Given the description of an element on the screen output the (x, y) to click on. 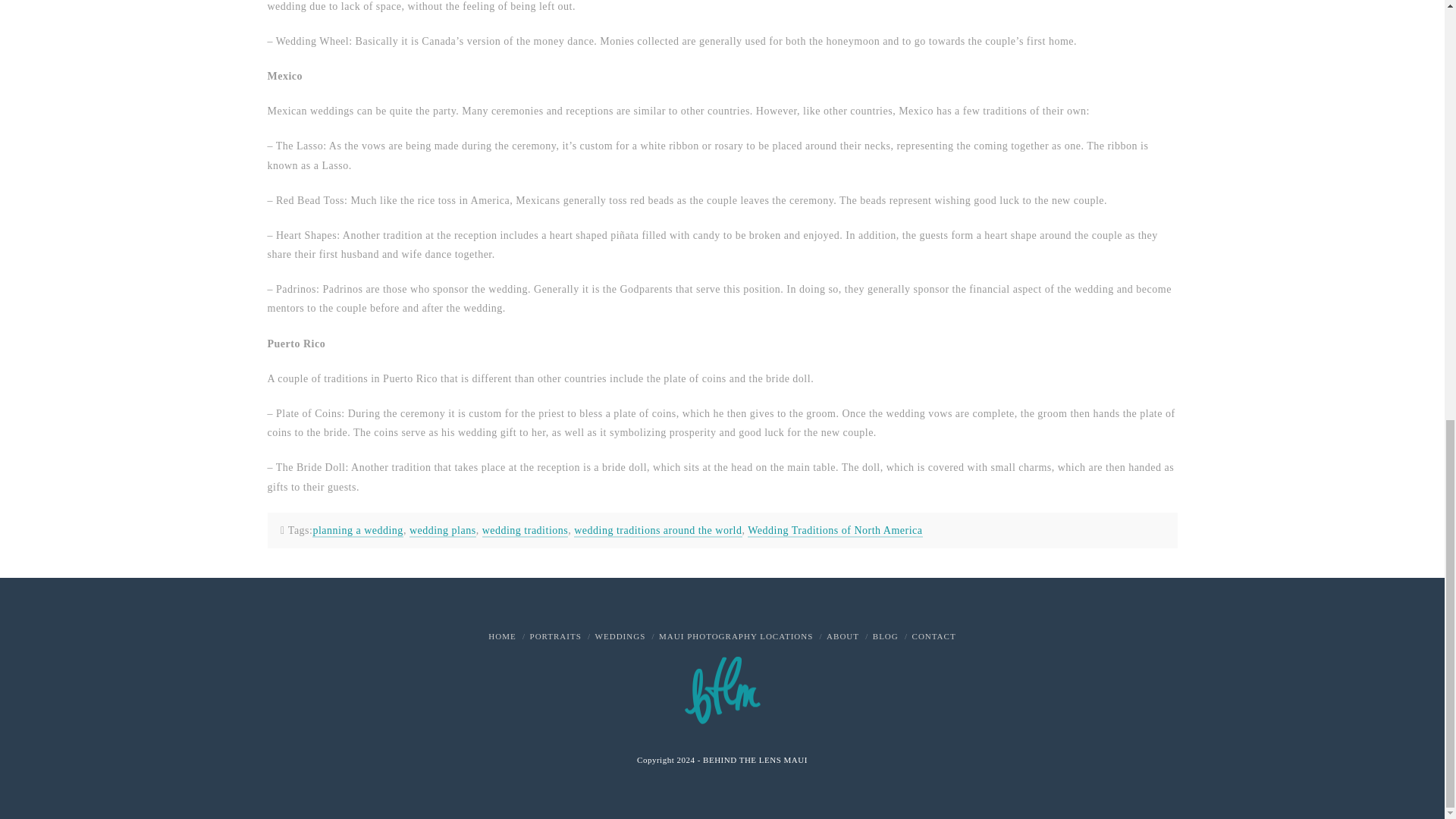
wedding traditions (525, 530)
MAUI PHOTOGRAPHY LOCATIONS (735, 635)
planning a wedding (358, 530)
WEDDINGS (620, 635)
Wedding Traditions of North America (834, 530)
BLOG (885, 635)
Maui Wedding Photography Home (501, 635)
PORTRAITS (554, 635)
ABOUT (843, 635)
wedding plans (442, 530)
wedding traditions around the world (657, 530)
HOME (501, 635)
